Given the description of an element on the screen output the (x, y) to click on. 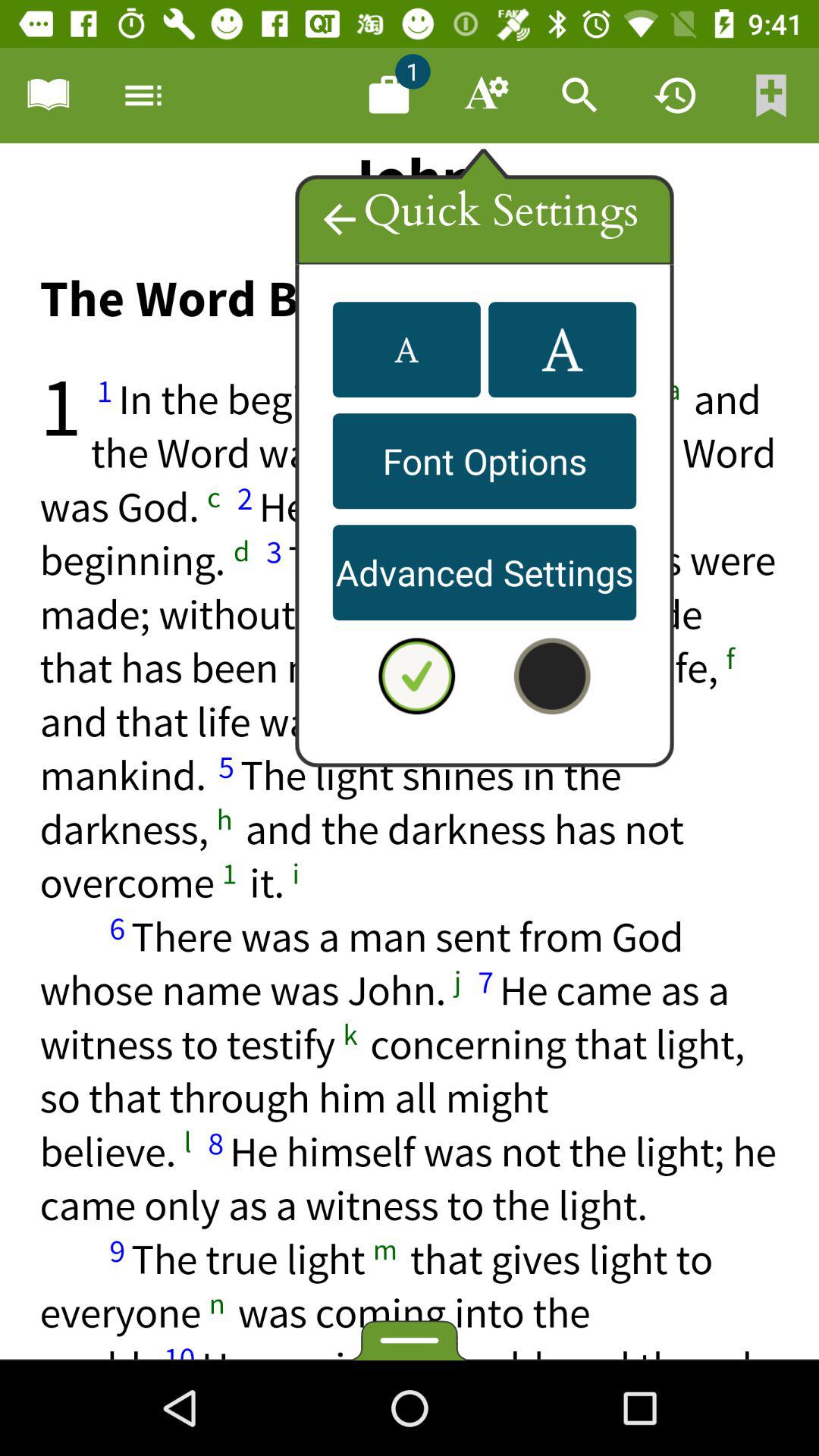
go to menu (143, 95)
